Given the description of an element on the screen output the (x, y) to click on. 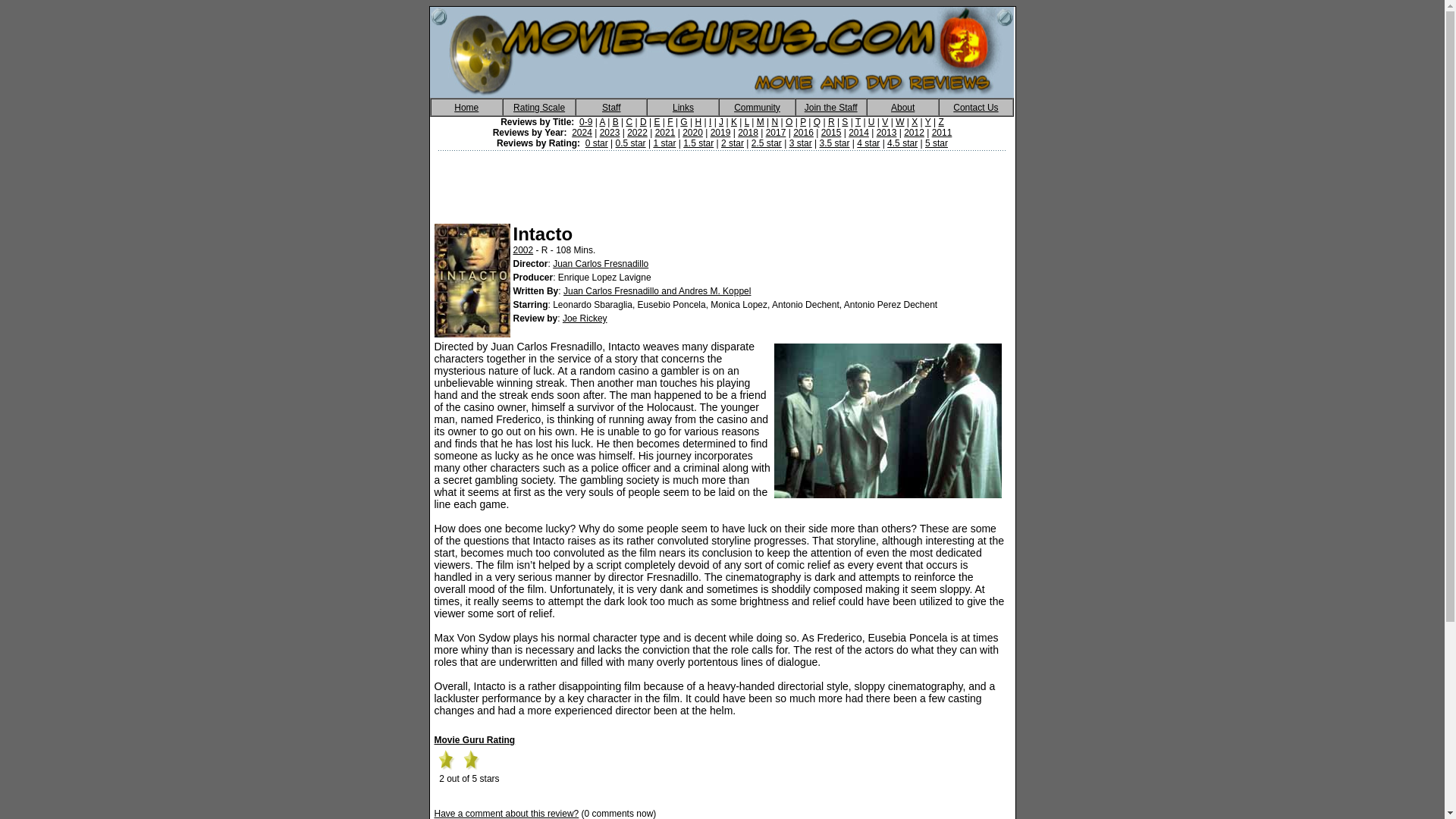
Staff (611, 106)
Join the Staff (831, 106)
Advertisement (722, 182)
2023 (609, 132)
About (902, 106)
2020 (692, 132)
Links (683, 106)
2022 (637, 132)
2021 (665, 132)
0-9 (585, 122)
2024 (582, 132)
Contact Us (975, 106)
Home (466, 106)
Rating Scale (538, 106)
